Given the description of an element on the screen output the (x, y) to click on. 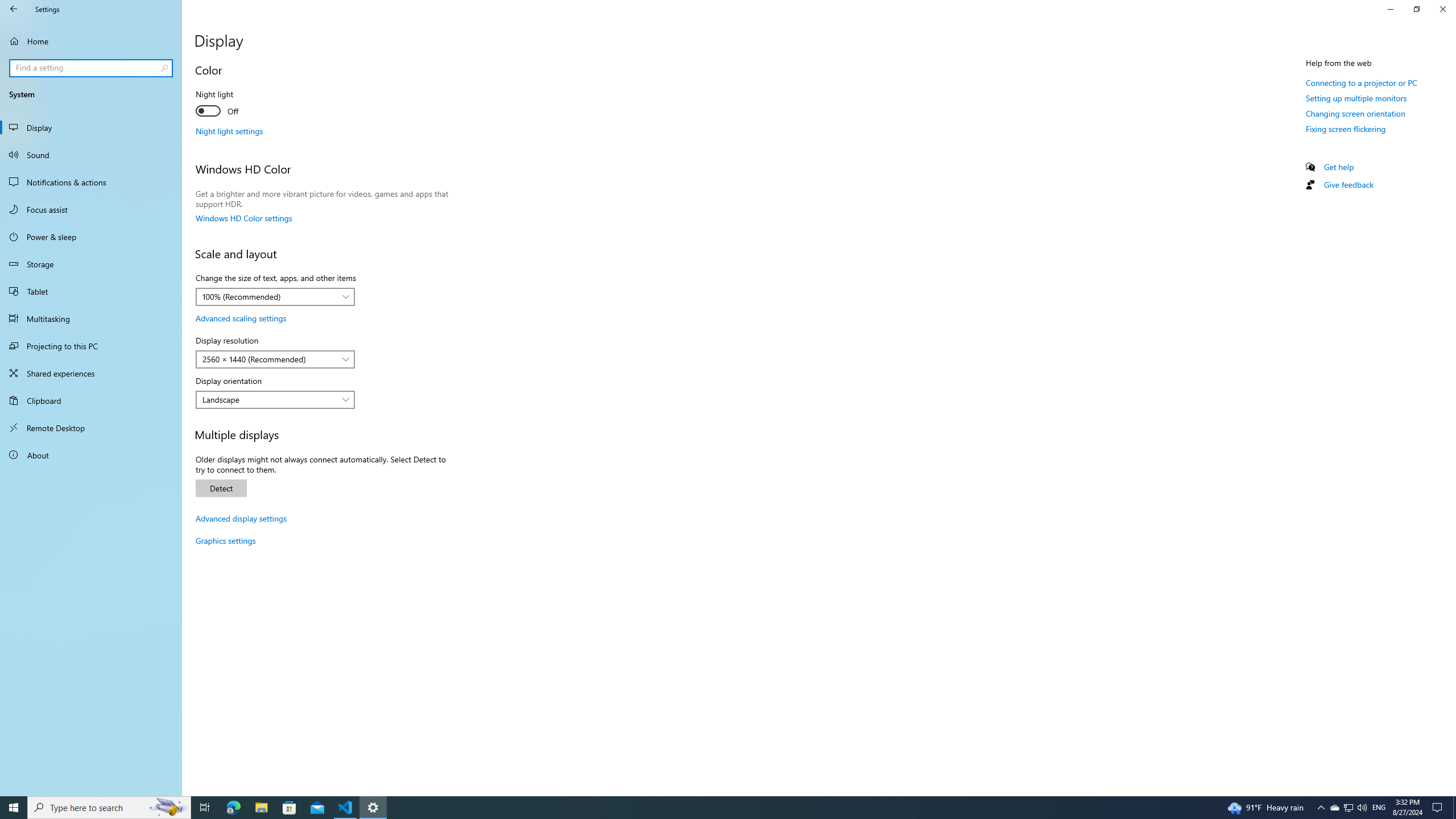
Night light (237, 104)
Settings - 1 running window (373, 807)
Advanced scaling settings (240, 317)
Minimize Settings (1390, 9)
Restore Settings (1416, 9)
Fixing screen flickering (1346, 128)
Power & sleep (91, 236)
Detect (221, 488)
Display (91, 126)
Remote Desktop (91, 427)
